Given the description of an element on the screen output the (x, y) to click on. 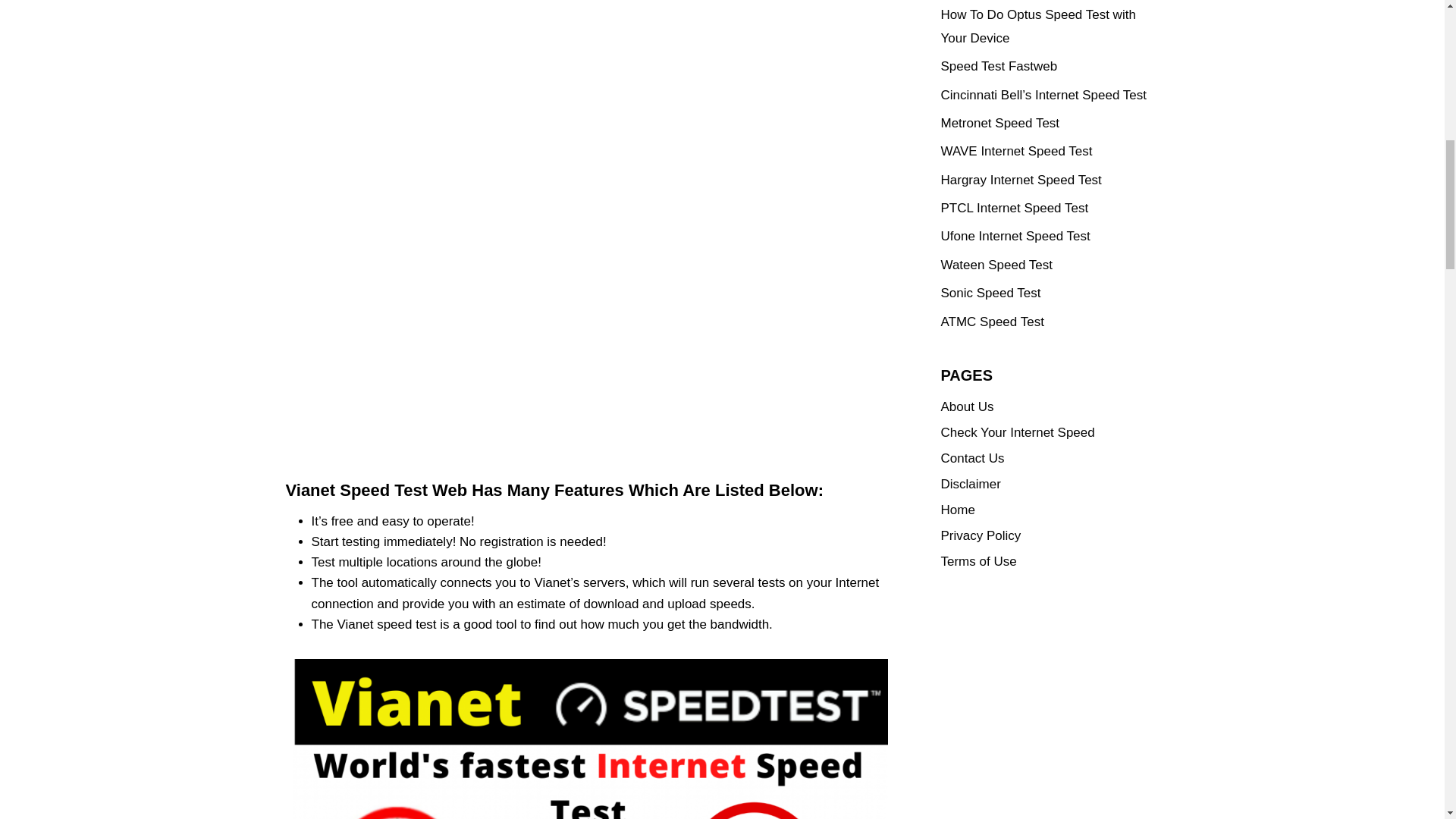
Speed Test Fastweb (998, 65)
Ufone Internet Speed Test (1014, 236)
How To Do Optus Speed Test with Your Device (1037, 26)
PTCL Internet Speed Test (1013, 207)
WAVE Internet Speed Test (1016, 151)
Metronet Speed Test (999, 123)
Hargray Internet Speed Test (1020, 179)
